Given the description of an element on the screen output the (x, y) to click on. 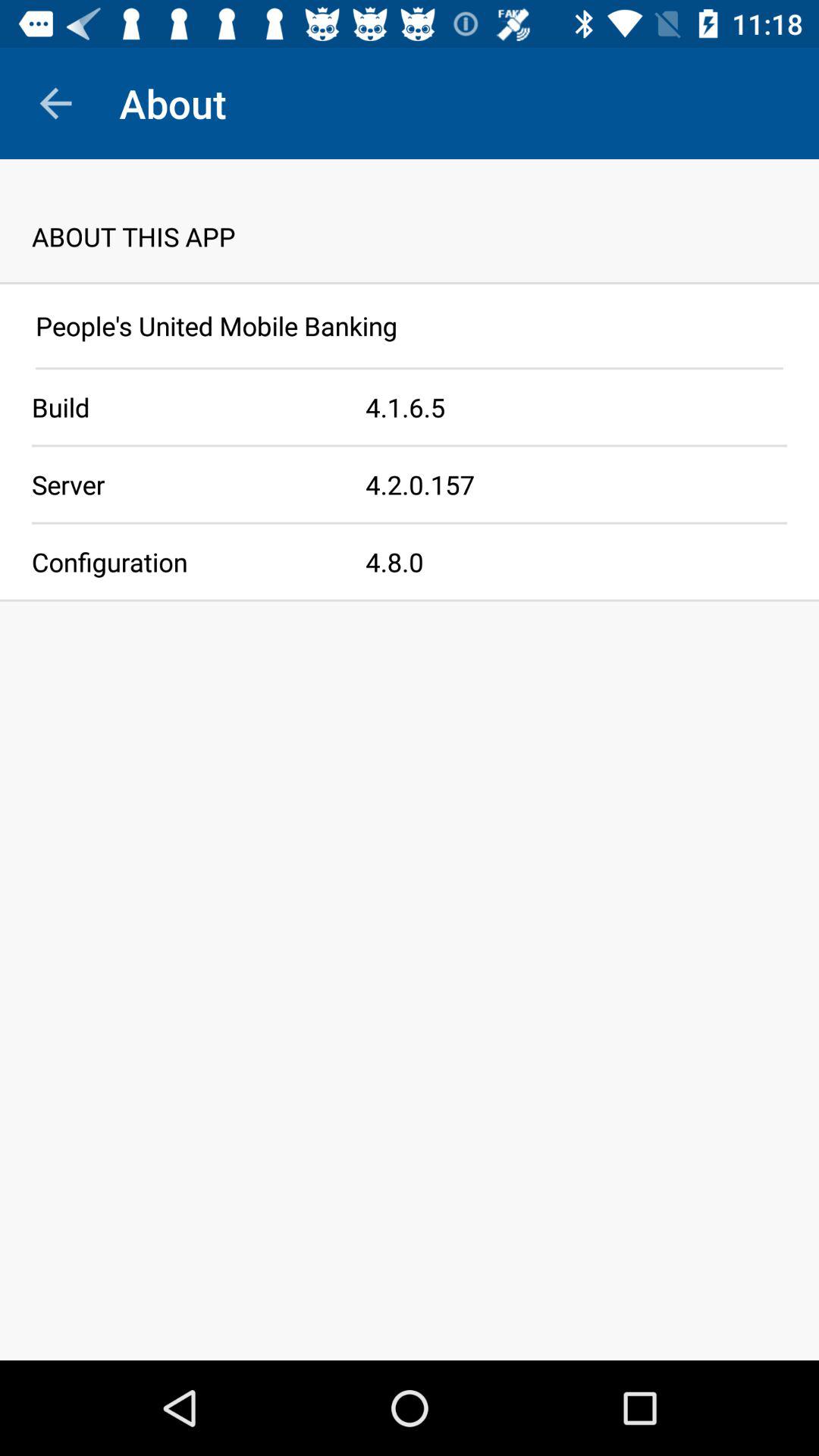
tap the icon to the left of the 4 2 0 icon (182, 484)
